Given the description of an element on the screen output the (x, y) to click on. 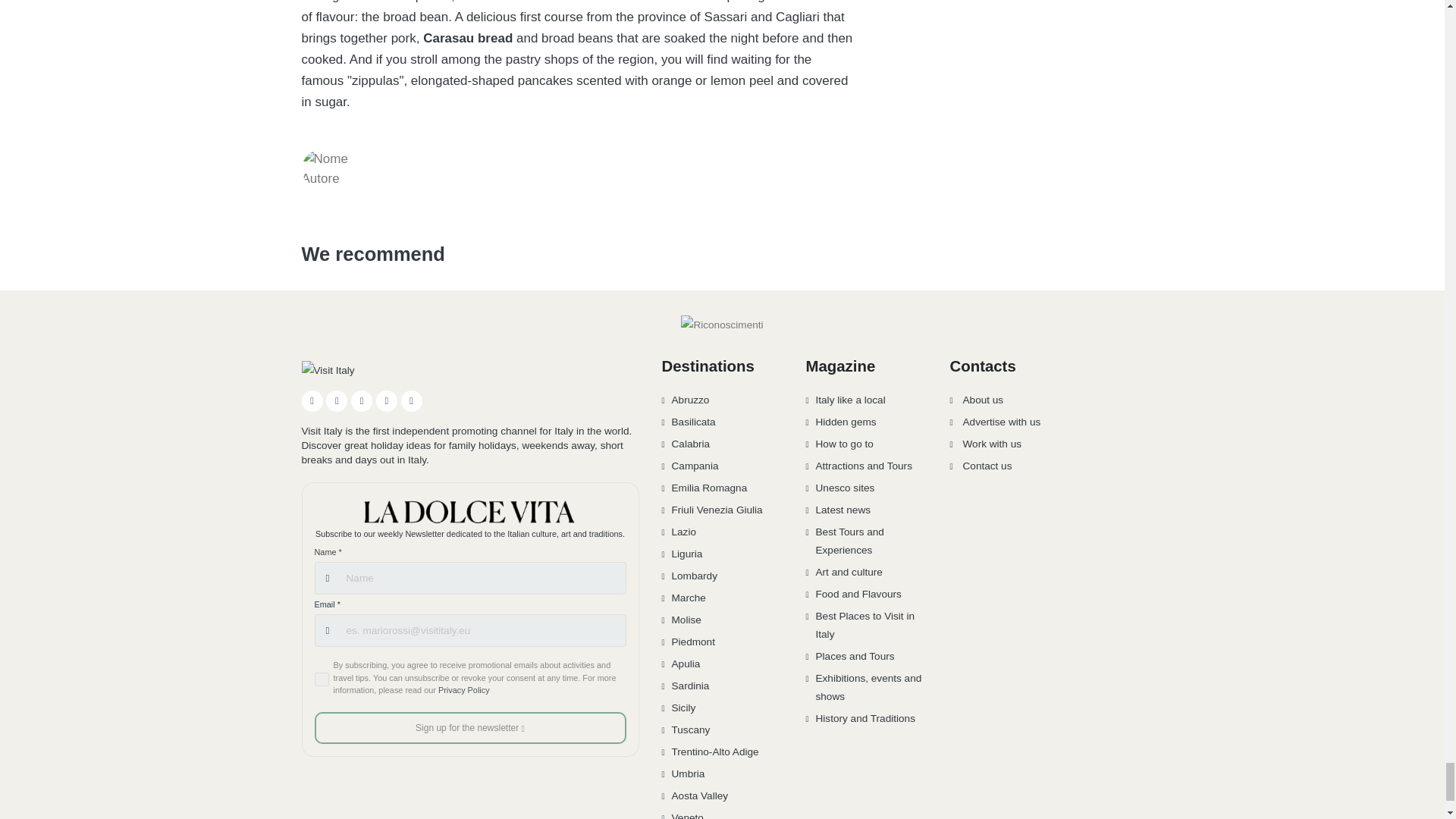
Facebook (312, 400)
Spotify (411, 400)
TikTok (386, 400)
YouTube (361, 400)
Instagram (336, 400)
